Given the description of an element on the screen output the (x, y) to click on. 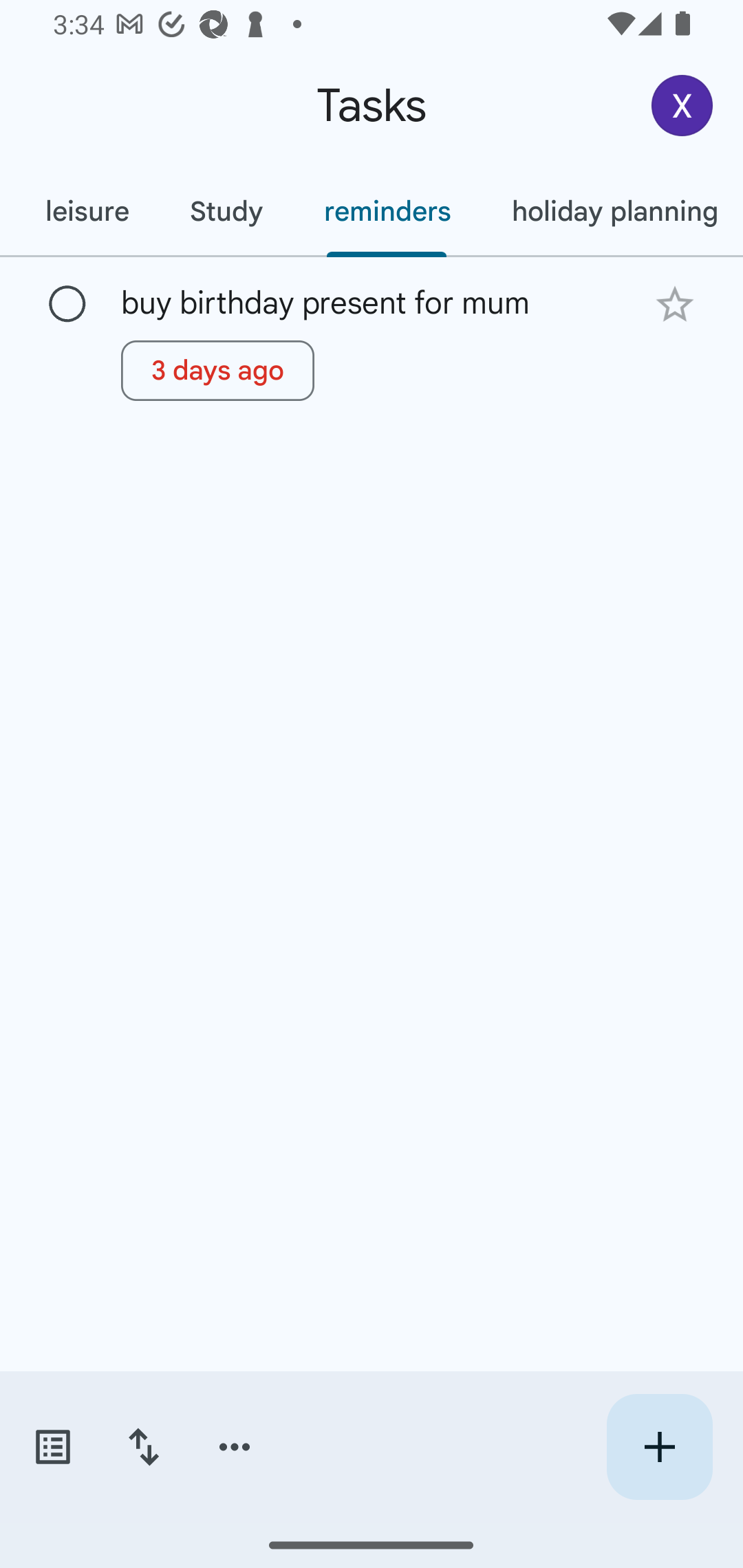
leisure (86, 211)
Study (225, 211)
holiday planning (611, 211)
Add star (674, 303)
Mark as complete (67, 304)
3 days ago (217, 369)
Switch task lists (52, 1447)
Create new task (659, 1446)
Change sort order (143, 1446)
More options (234, 1446)
